Given the description of an element on the screen output the (x, y) to click on. 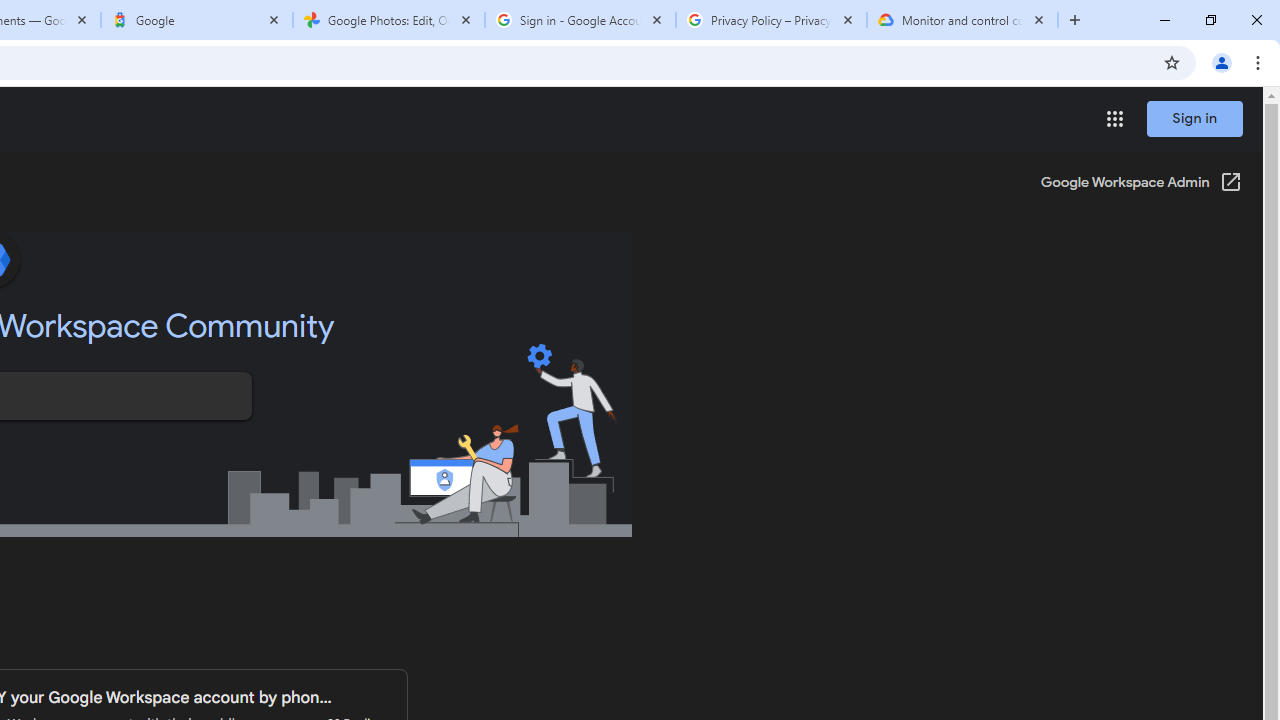
Google (197, 20)
Google Workspace Admin (Open in a new window) (1140, 183)
Sign in - Google Accounts (580, 20)
